Given the description of an element on the screen output the (x, y) to click on. 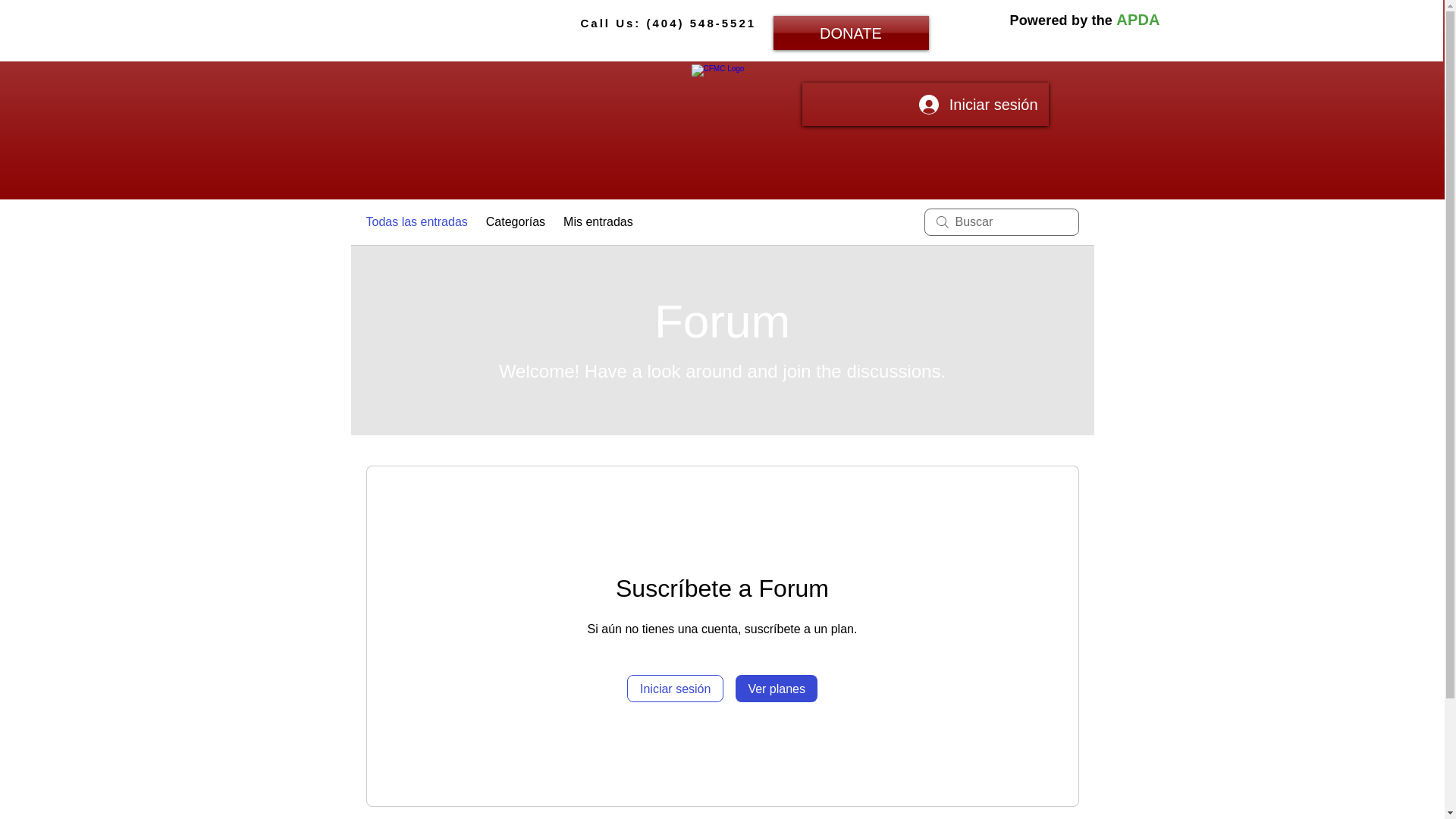
Mis entradas (598, 221)
DONATE (850, 32)
Todas las entradas (416, 221)
Ver planes (775, 687)
